Given the description of an element on the screen output the (x, y) to click on. 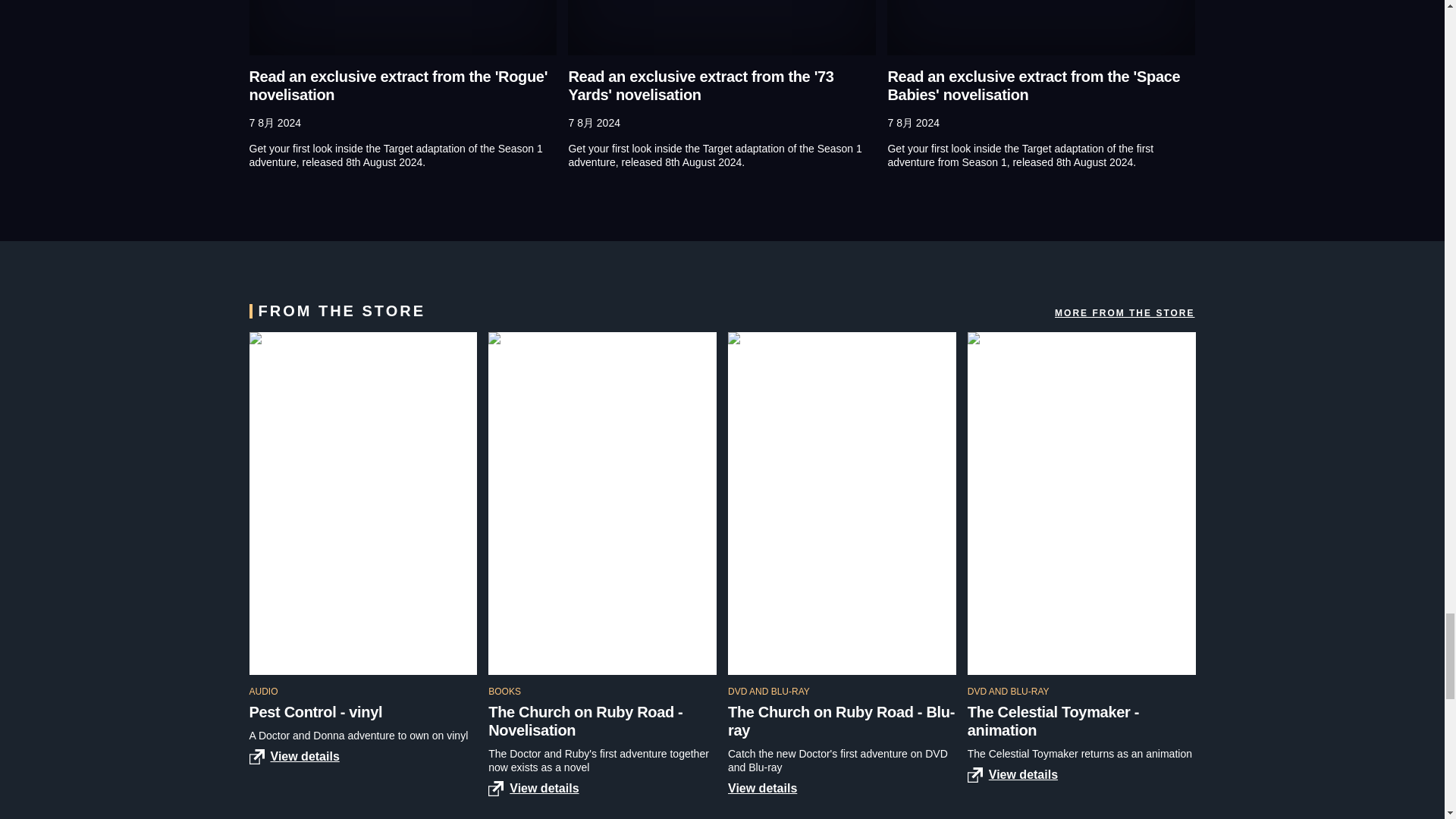
Space Babies (1040, 27)
73 Yards (721, 27)
Rogue (402, 27)
